Given the description of an element on the screen output the (x, y) to click on. 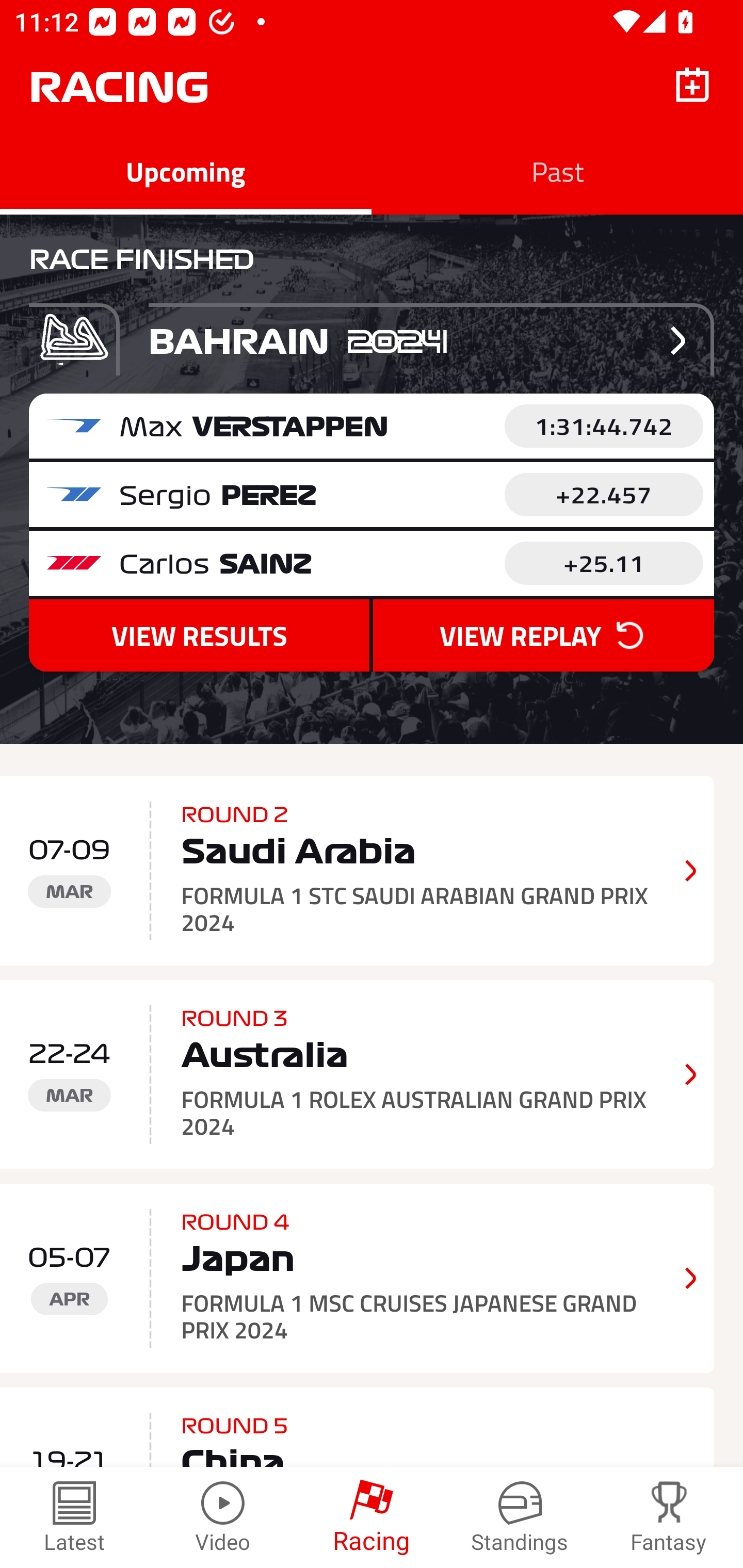
Past (557, 171)
VIEW RESULTS (198, 634)
VIEW REPLAY (543, 634)
Latest (74, 1517)
Video (222, 1517)
Standings (519, 1517)
Fantasy (668, 1517)
